Given the description of an element on the screen output the (x, y) to click on. 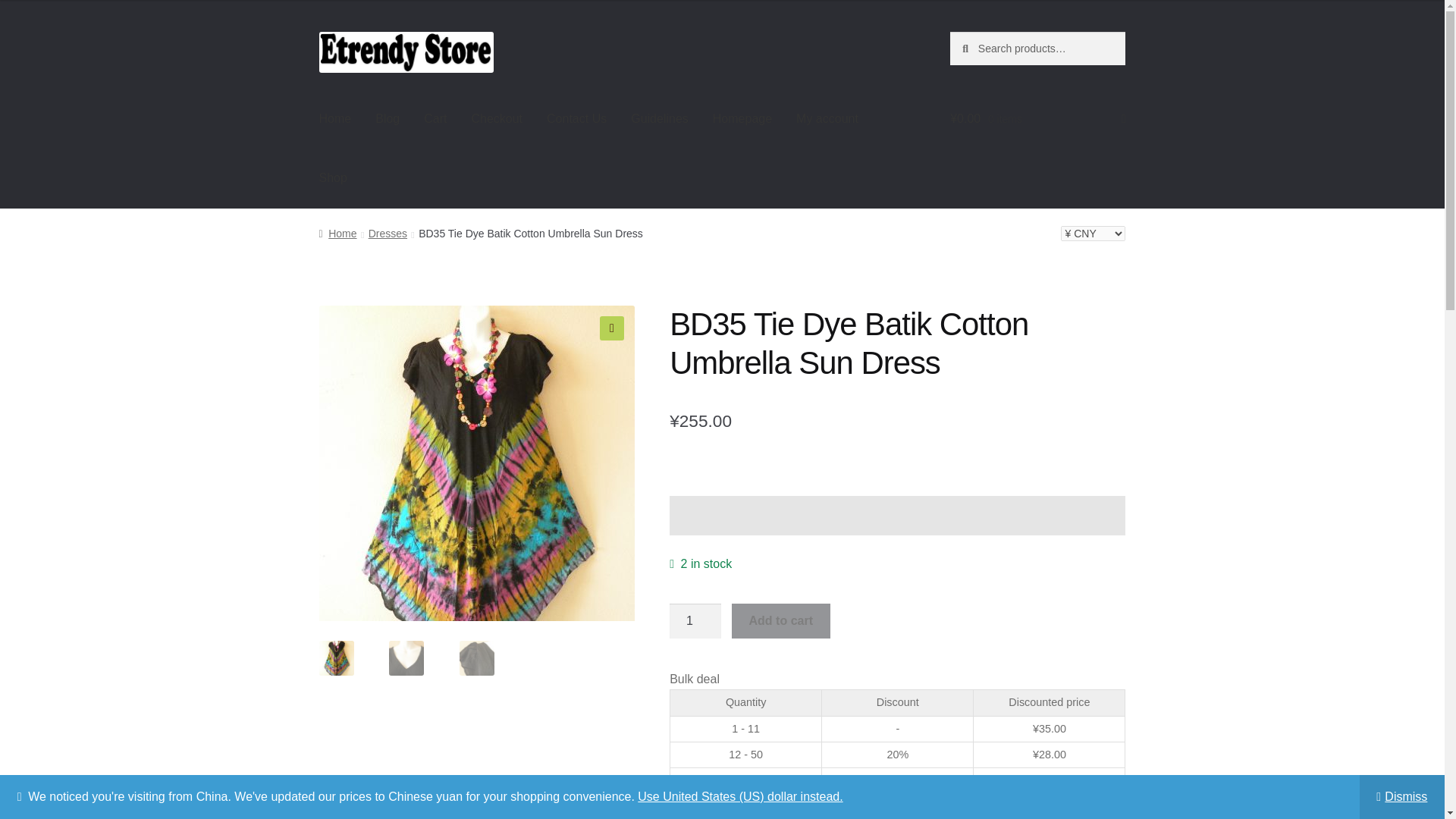
Guidelines (659, 118)
1 (694, 620)
Add to cart (780, 620)
Homepage (742, 118)
batik dress32a (792, 423)
View your shopping cart (1037, 118)
Home (337, 233)
Home (335, 118)
My account (827, 118)
Contact Us (576, 118)
Dresses (387, 233)
Checkout (496, 118)
